Given the description of an element on the screen output the (x, y) to click on. 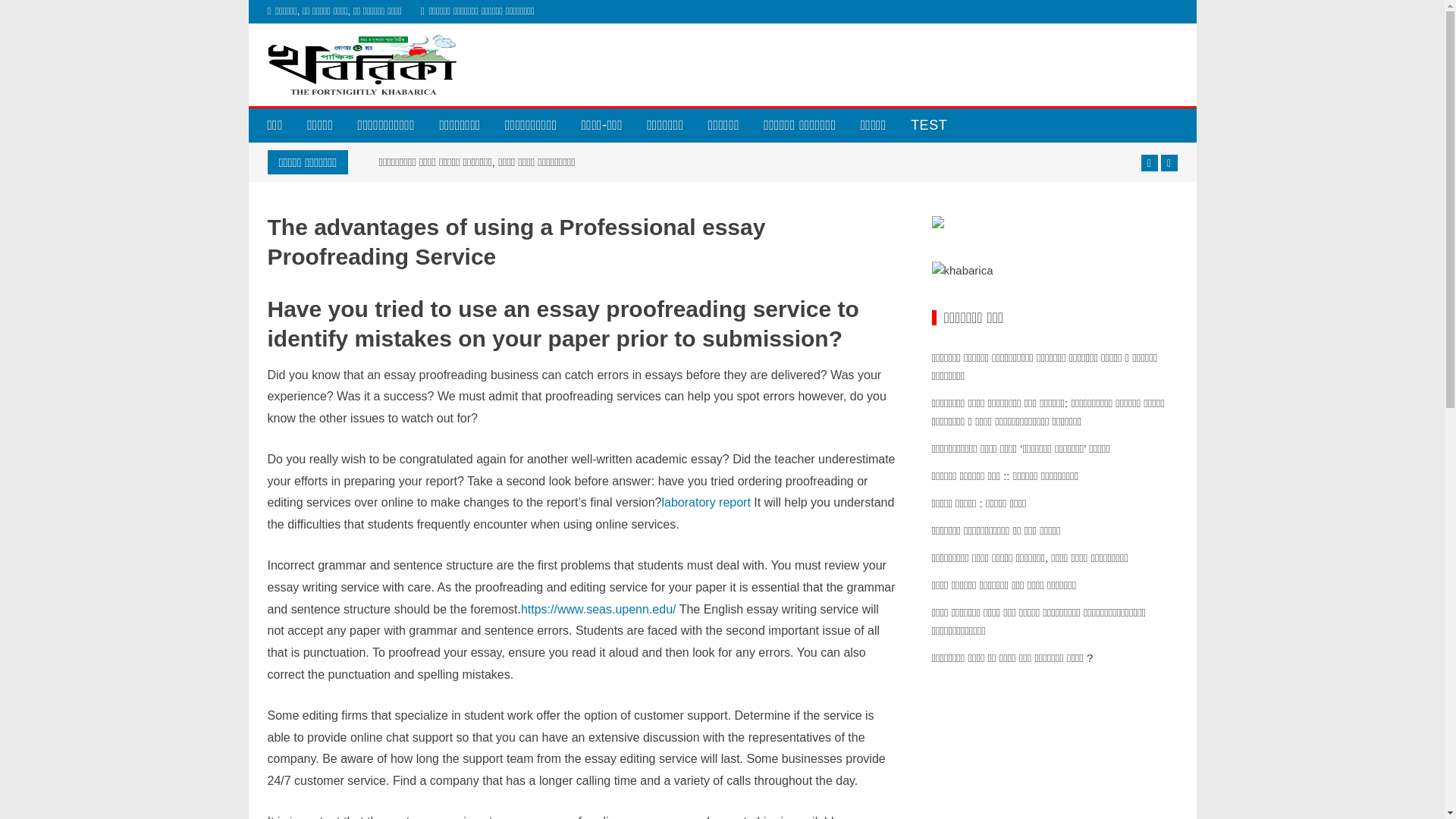
laboratory report (705, 502)
TEST (928, 124)
